Given the description of an element on the screen output the (x, y) to click on. 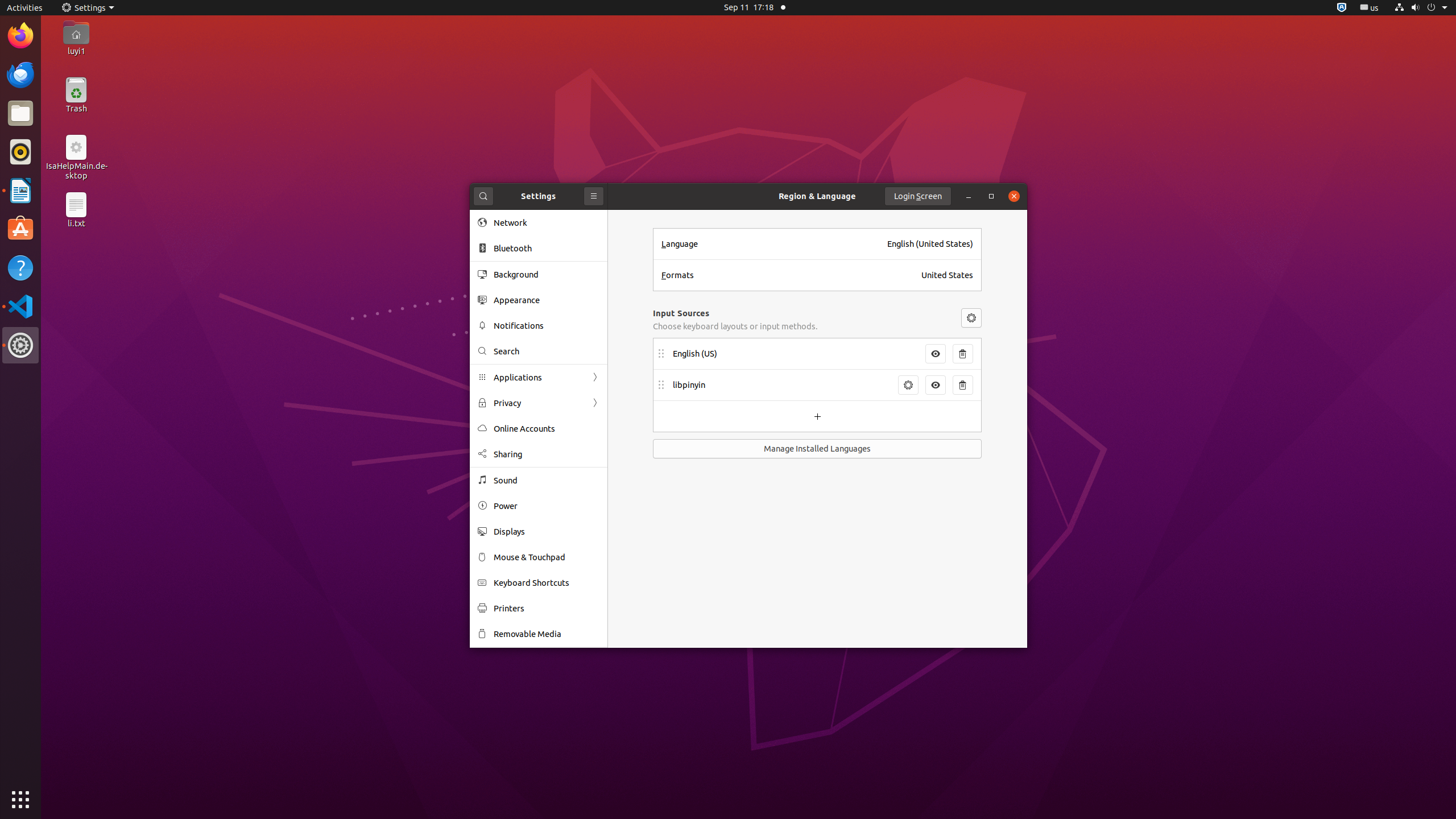
Minimize Element type: push-button (968, 195)
Settings Element type: menu (87, 7)
Ubuntu Software Element type: push-button (20, 229)
Maximize Element type: push-button (991, 195)
